Given the description of an element on the screen output the (x, y) to click on. 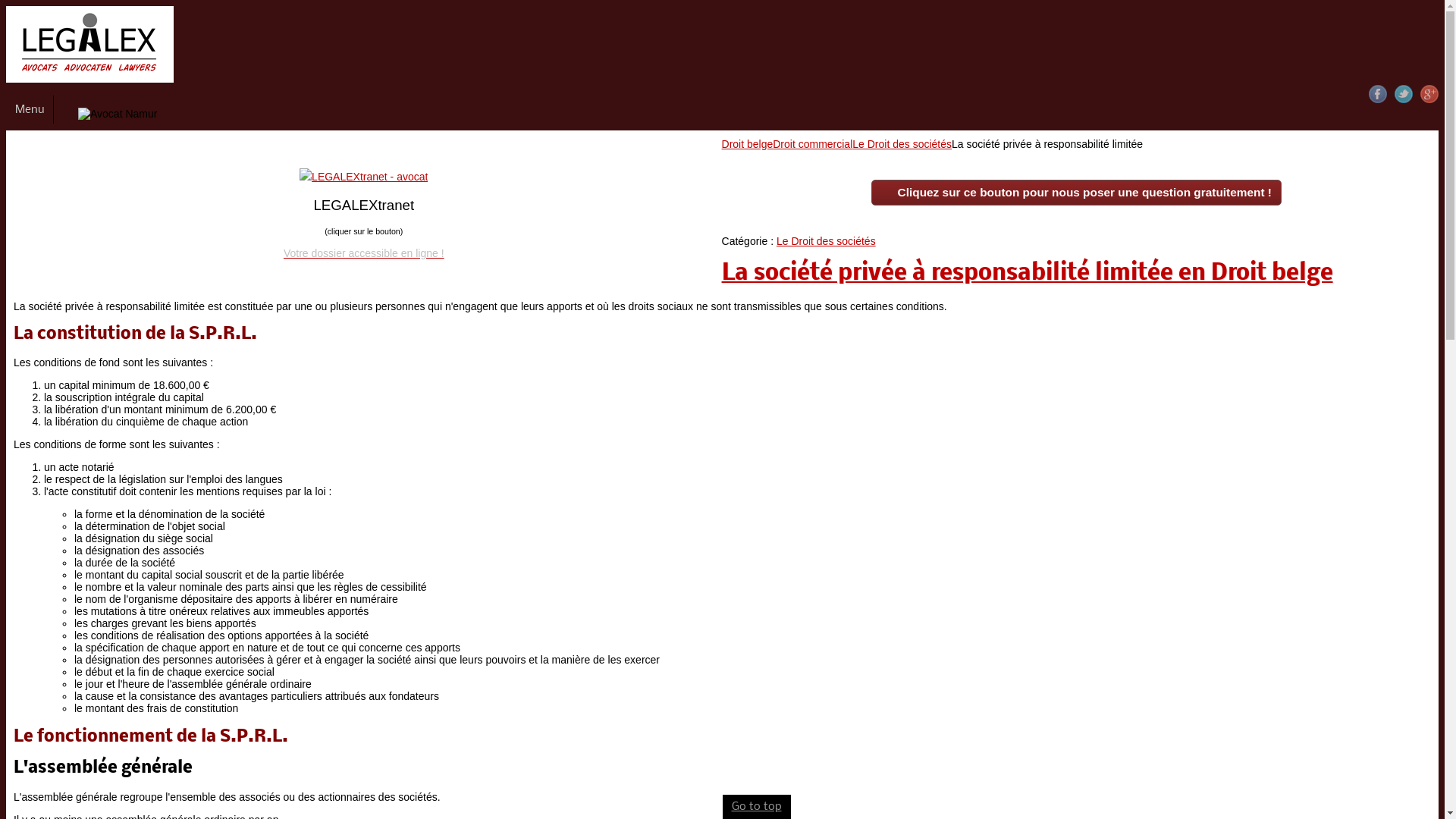
Google+ Element type: text (1429, 93)
Droit commercial Element type: text (812, 144)
Facebook Element type: text (1377, 93)
Twitter Element type: text (1403, 93)
Votre dossier accessible en ligne ! Element type: text (363, 253)
Droit belge Element type: text (747, 144)
